Given the description of an element on the screen output the (x, y) to click on. 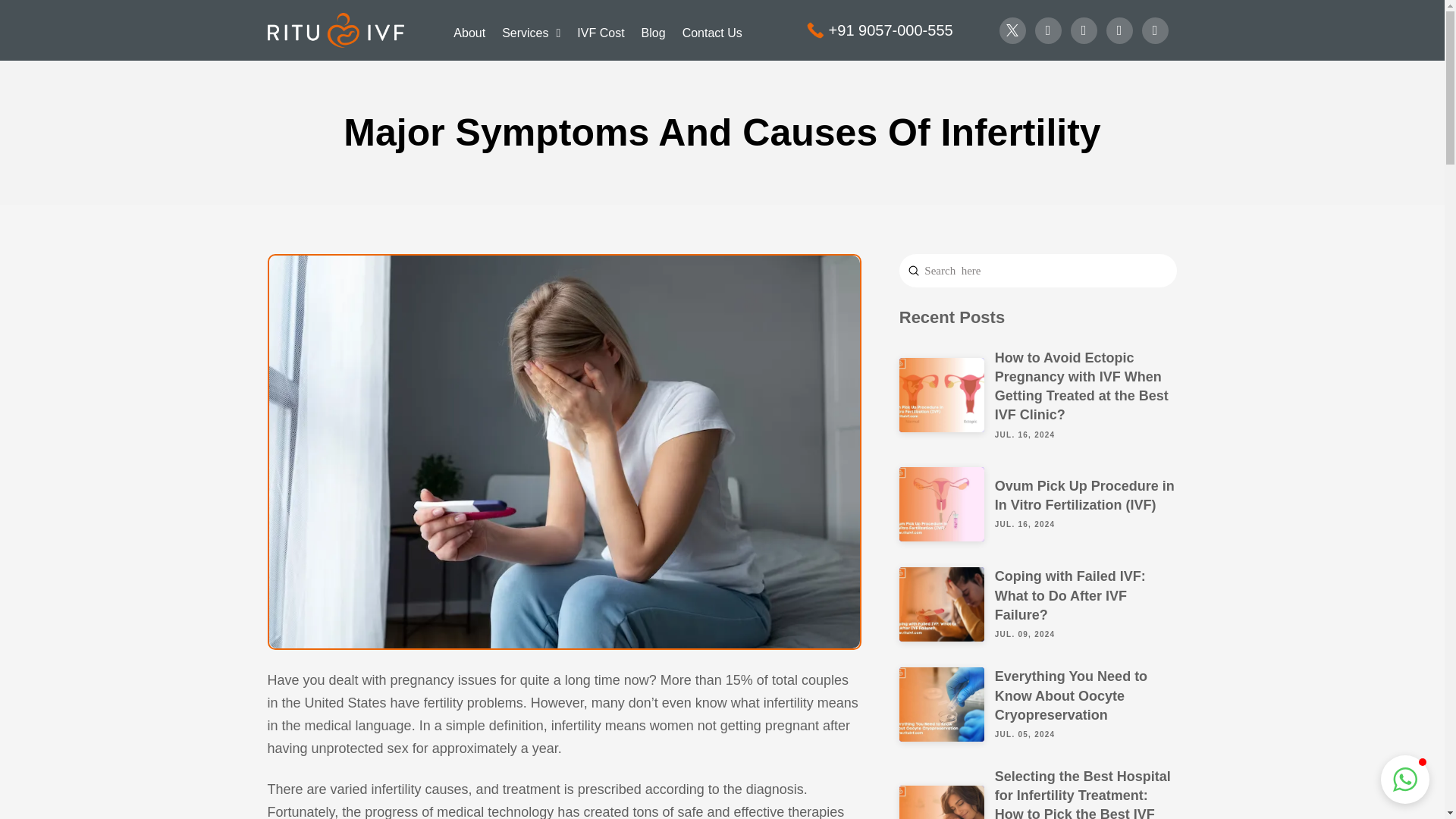
Submit (913, 270)
Services (535, 30)
Contact Us (716, 30)
About (473, 30)
Blog (657, 30)
IVF Cost (605, 30)
